Given the description of an element on the screen output the (x, y) to click on. 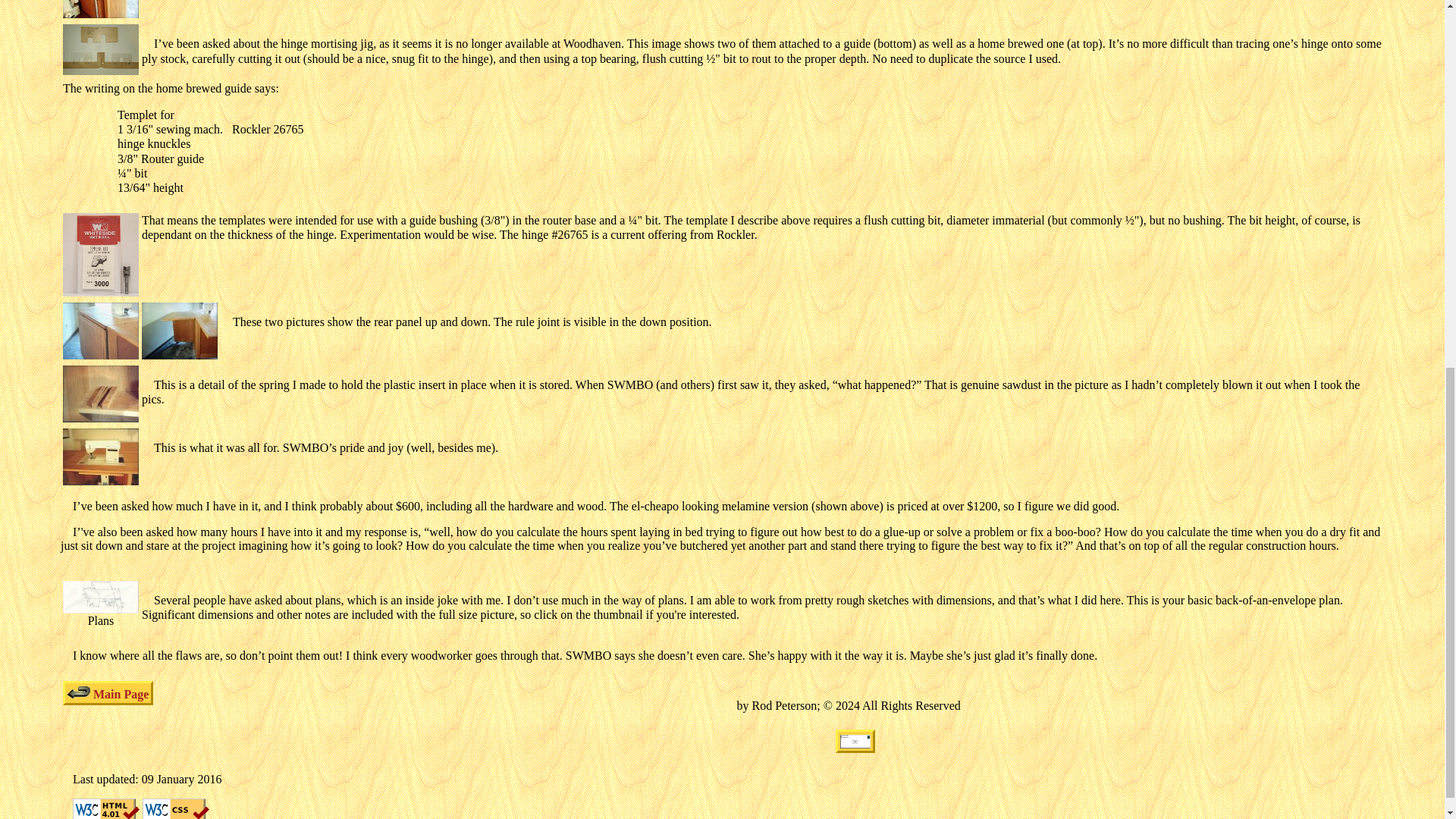
email the Woodbutcher (855, 740)
rear table up (178, 330)
Return to Main Page (107, 692)
rule joint detail - rear table down (100, 330)
top bearing, flush cutting bit (100, 254)
plans (100, 596)
spring detail (100, 393)
hinge routing jig (100, 49)
sewing machine detail Pfaff model 1475 (100, 456)
right door and right wing (100, 9)
